Given the description of an element on the screen output the (x, y) to click on. 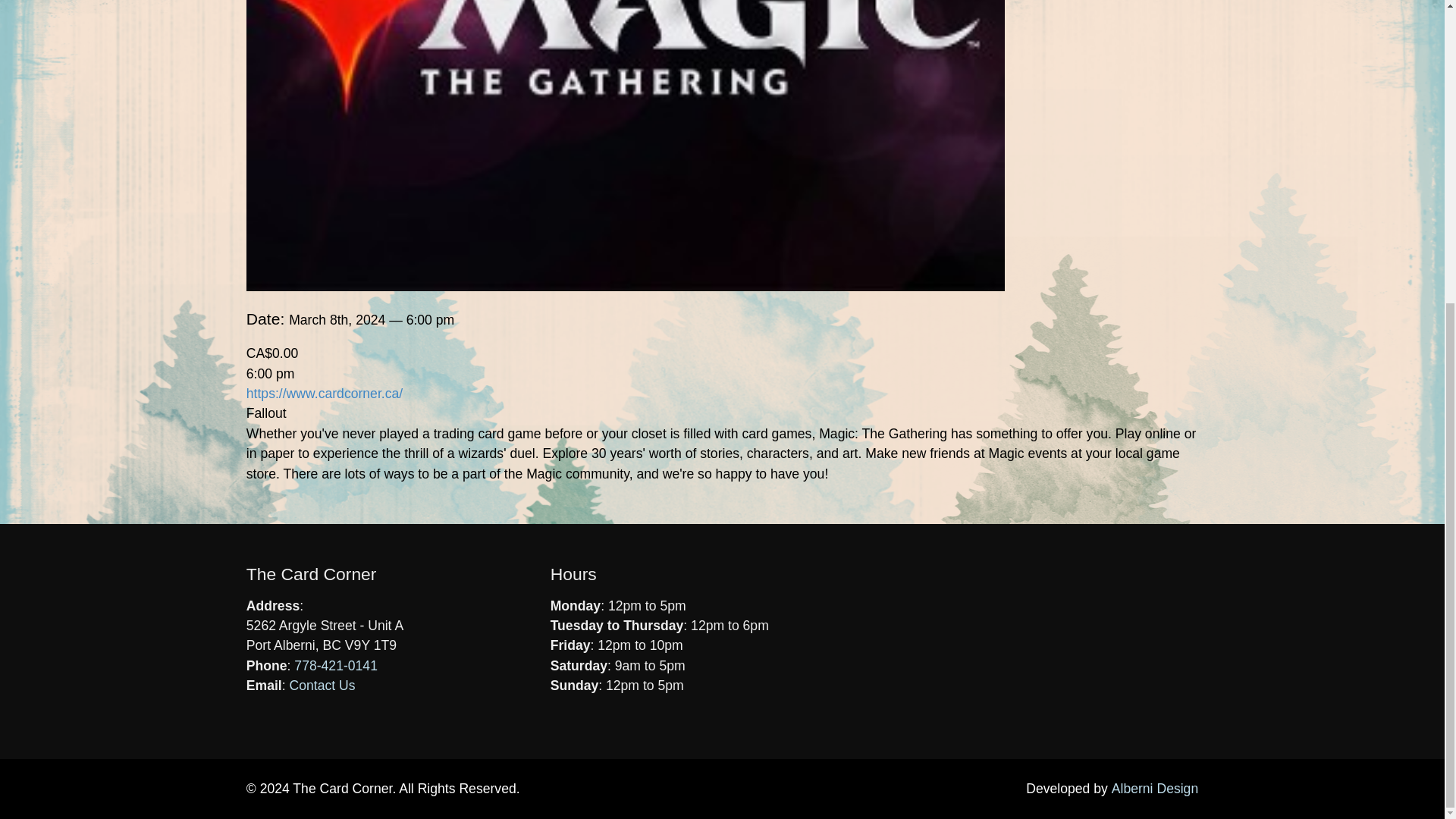
Contact Us (322, 685)
778-421-0141 (335, 665)
Alberni Design (1155, 788)
